Given the description of an element on the screen output the (x, y) to click on. 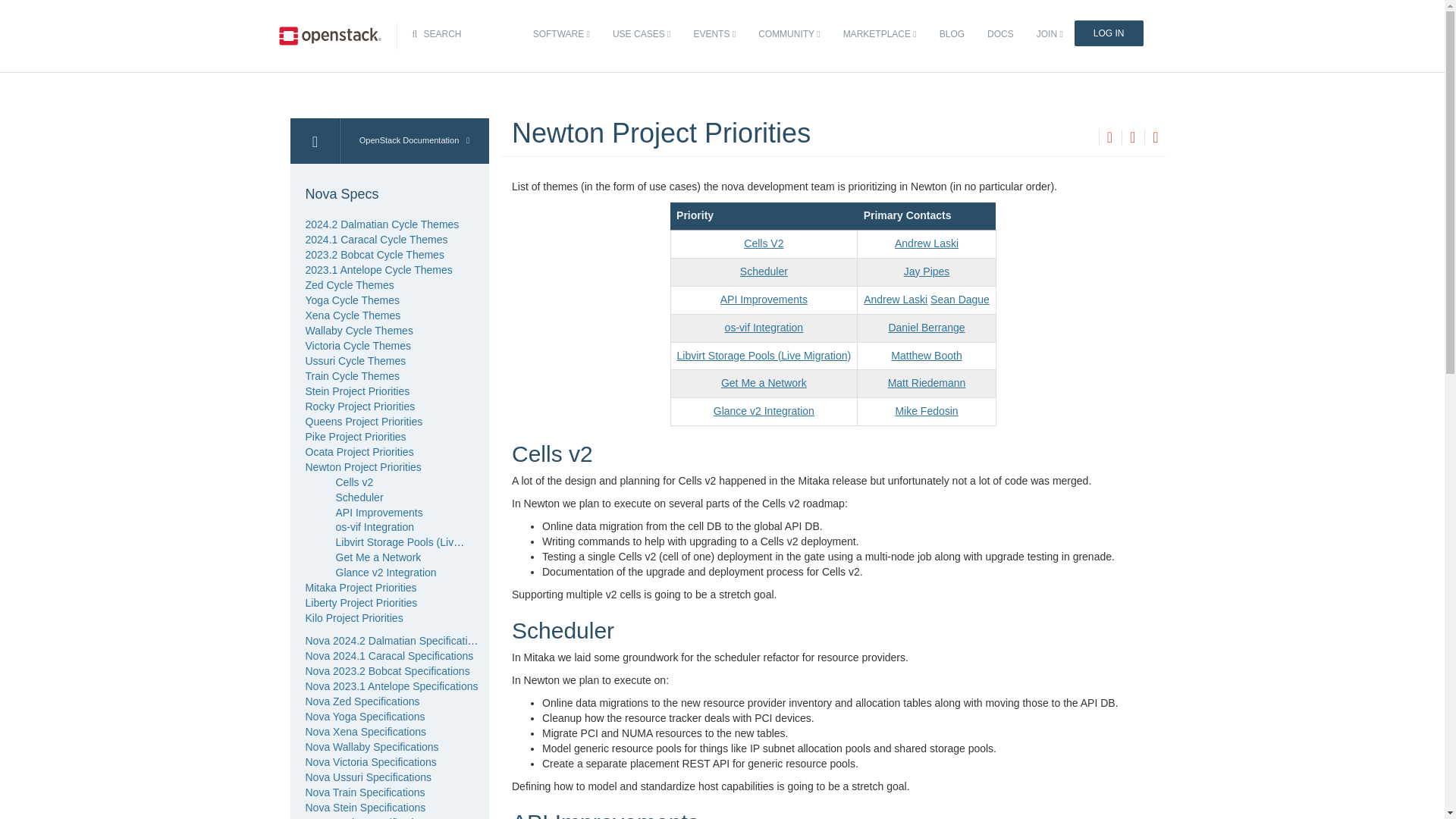
SOFTWARE (561, 34)
COMMUNITY (788, 34)
MARKETPLACE (879, 34)
EVENTS (713, 34)
USE CASES (641, 34)
Found an error? Report a bug against this page (1155, 138)
